Given the description of an element on the screen output the (x, y) to click on. 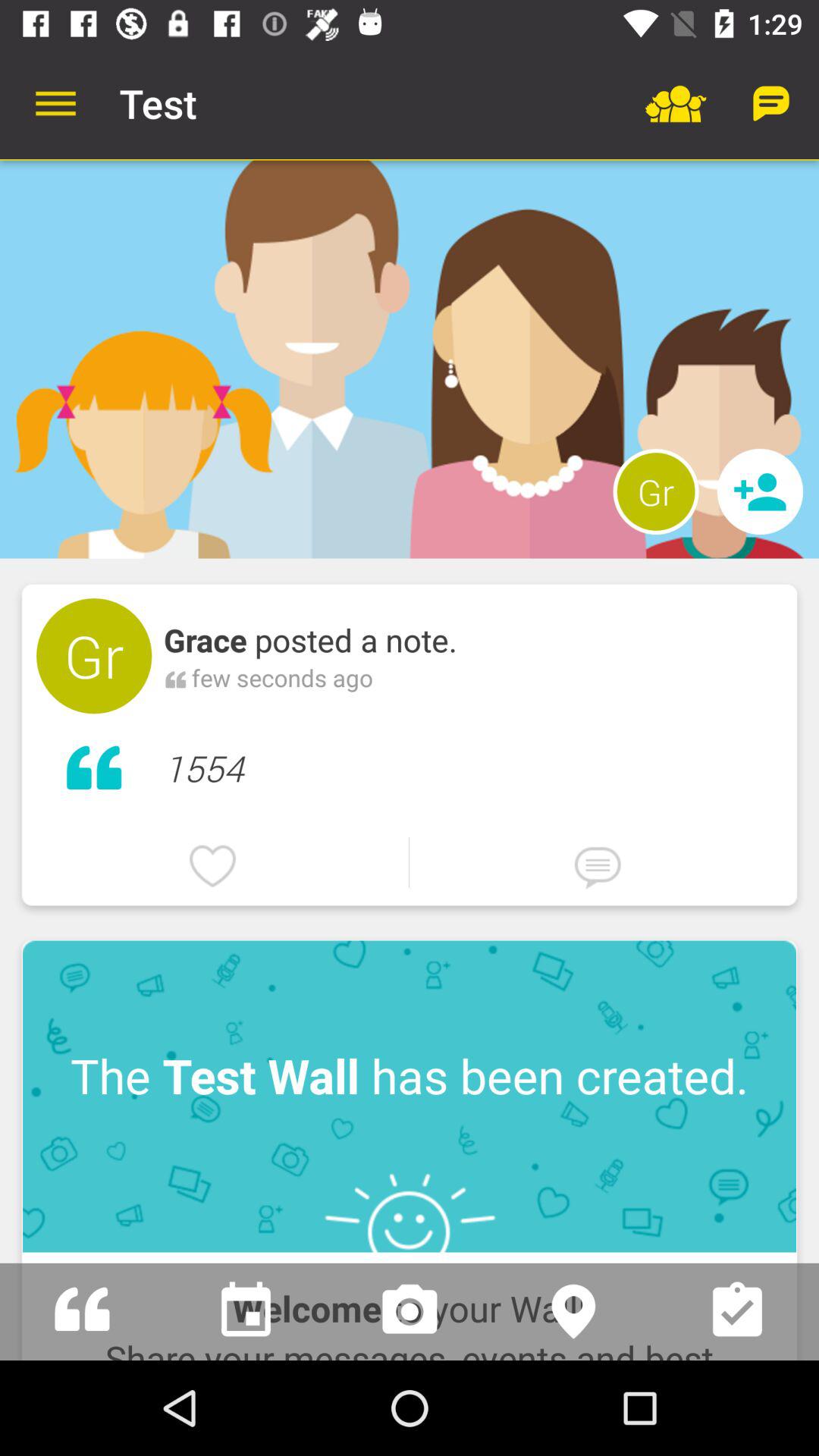
share location (573, 1311)
